Given the description of an element on the screen output the (x, y) to click on. 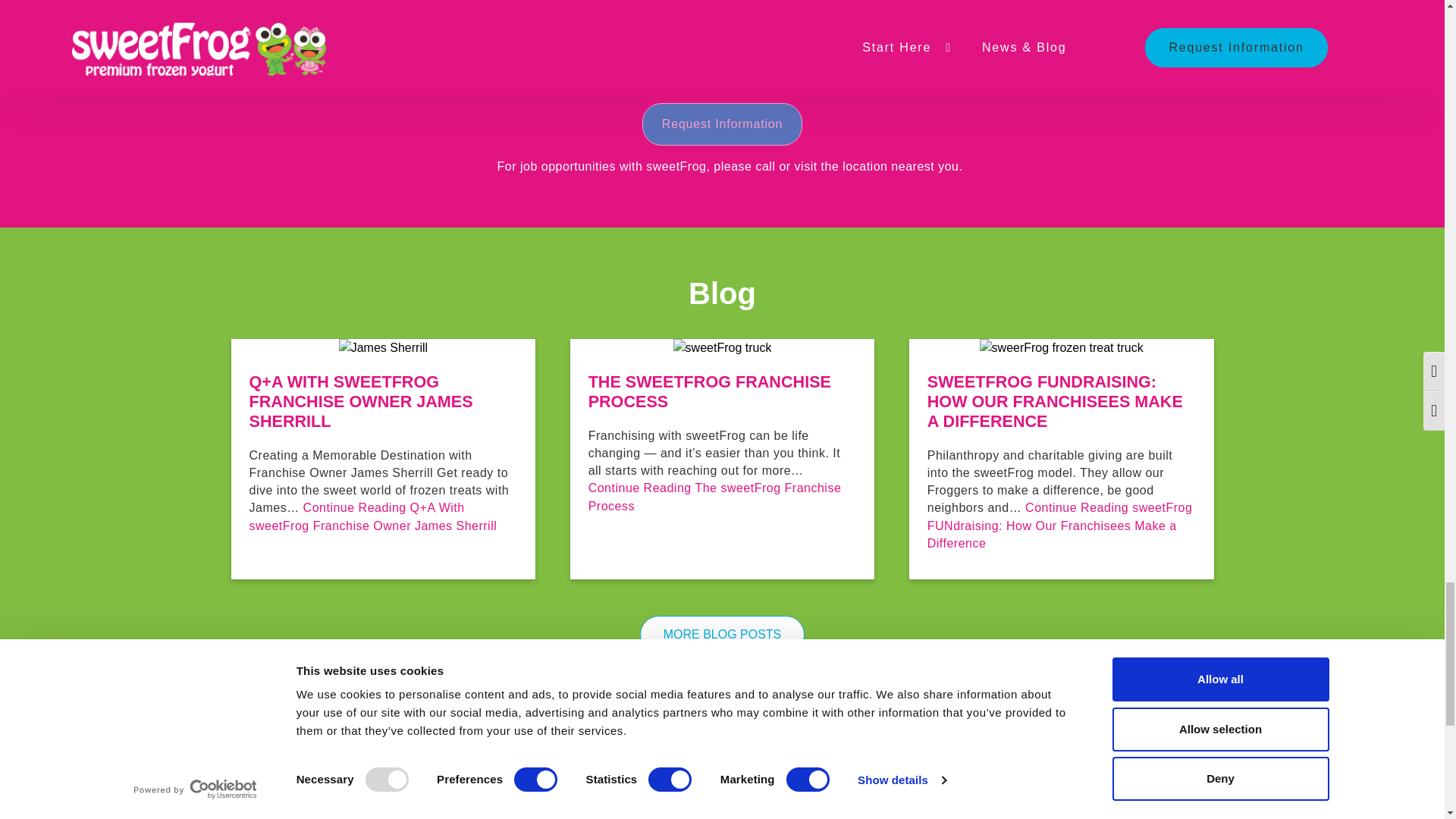
Request Information (722, 124)
